Given the description of an element on the screen output the (x, y) to click on. 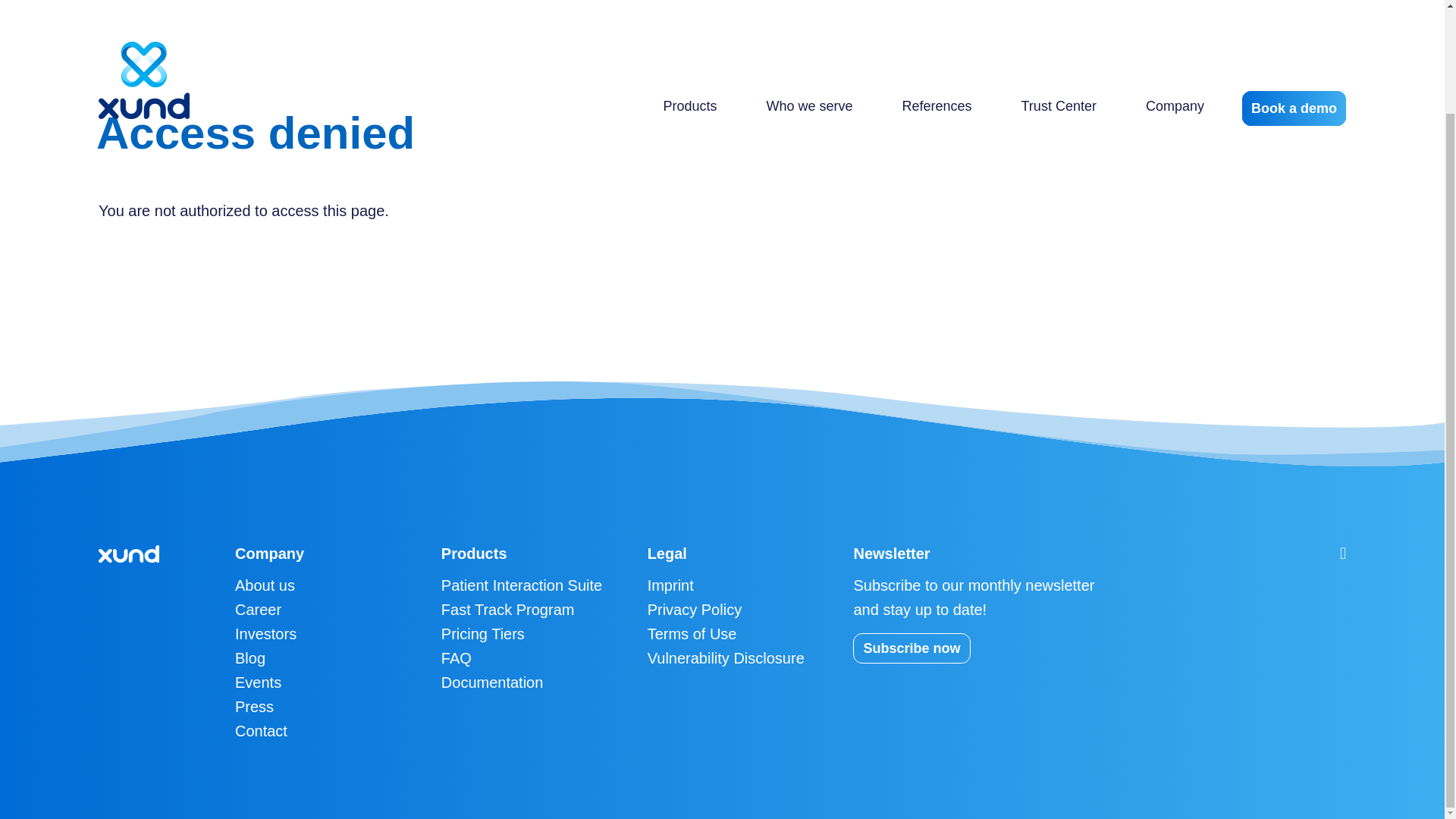
About us (264, 585)
Events (257, 682)
Subscribe now (911, 648)
Press (253, 706)
Investors (265, 633)
Book a demo (1293, 2)
Vulnerability Disclosure (726, 658)
Terms of Use (691, 633)
Imprint (670, 585)
Career (257, 609)
Privacy Policy (694, 609)
Contact (260, 730)
Documentation (492, 682)
Book a demo (1293, 2)
Pricing Tiers (482, 633)
